Given the description of an element on the screen output the (x, y) to click on. 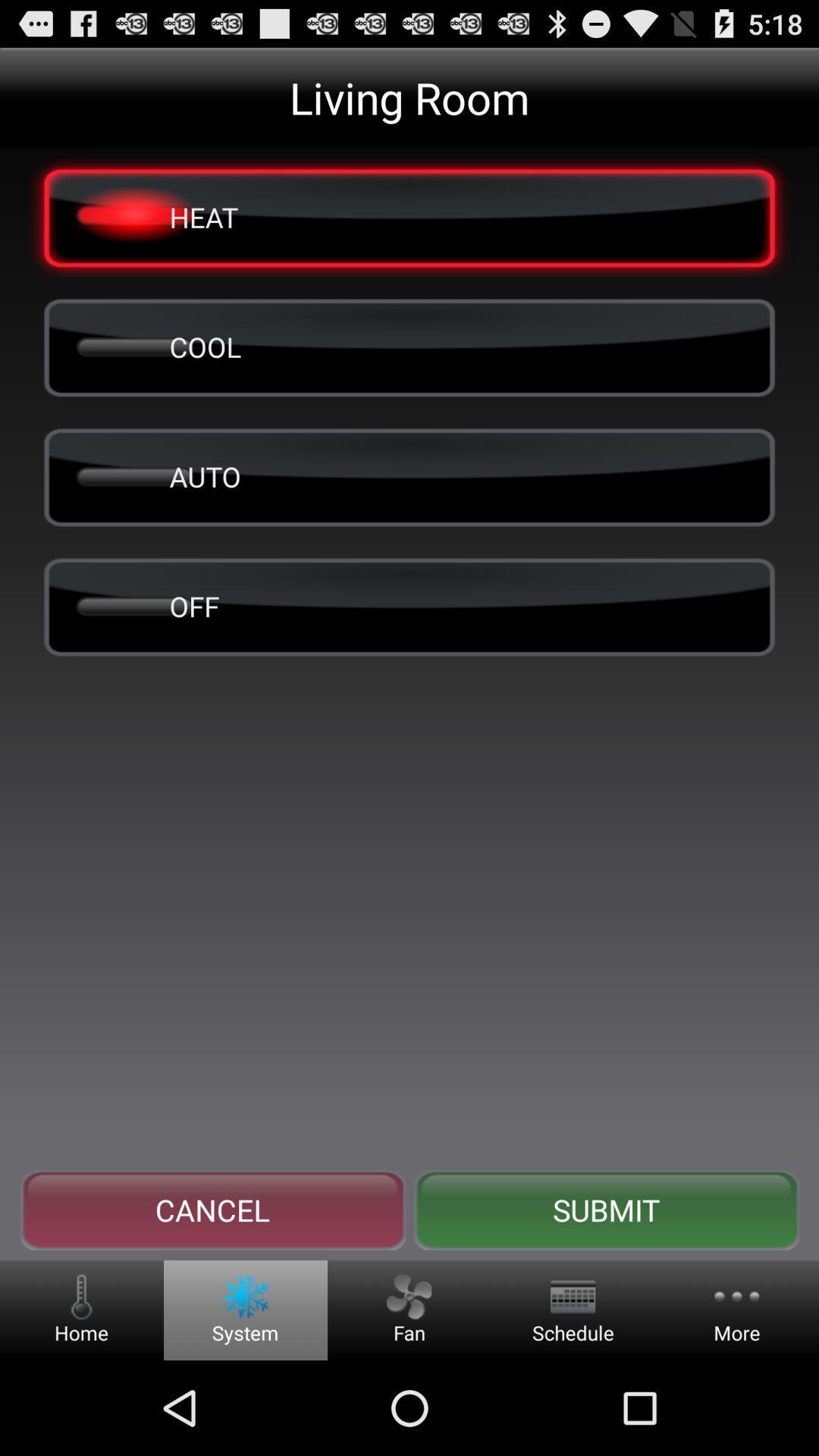
press icon to the left of the submit button (212, 1210)
